Given the description of an element on the screen output the (x, y) to click on. 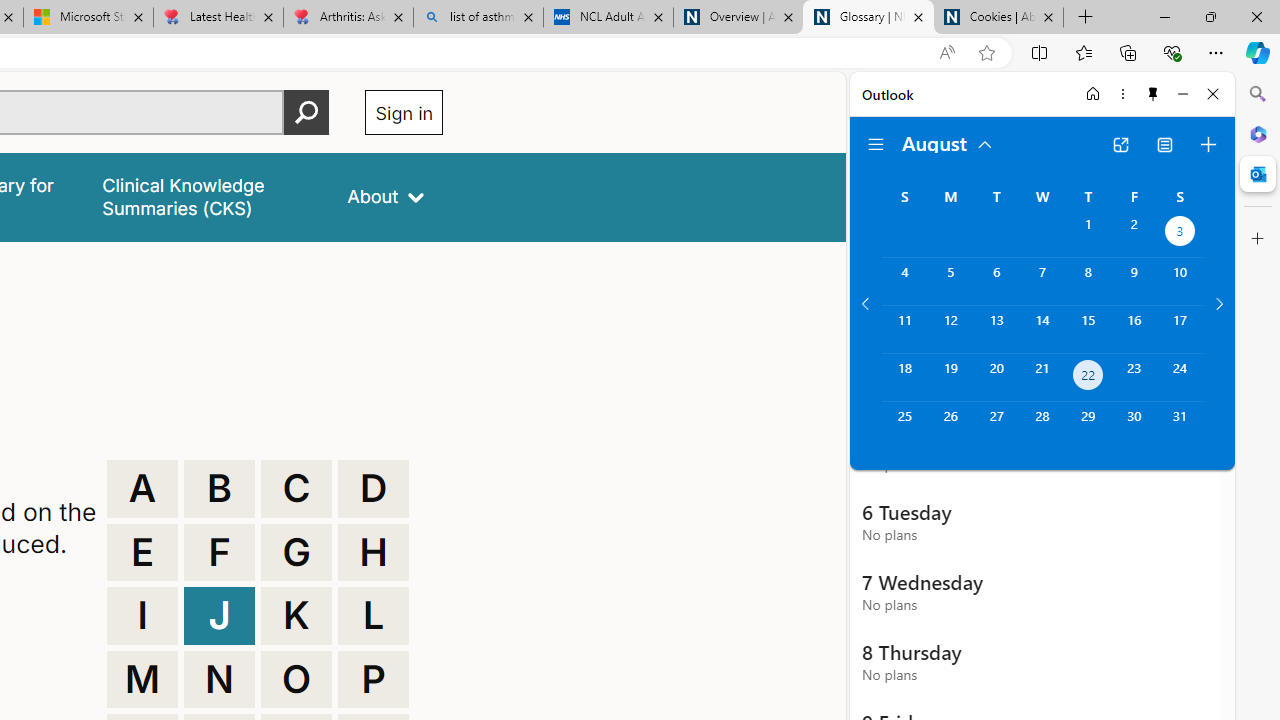
G (296, 551)
Tuesday, August 20, 2024.  (996, 377)
E (142, 551)
N (219, 679)
Monday, August 19, 2024.  (950, 377)
G (296, 551)
P (373, 679)
Sunday, August 18, 2024.  (904, 377)
H (373, 551)
J (219, 615)
View Switcher. Current view is Agenda view (1165, 144)
Sunday, August 11, 2024.  (904, 329)
